Given the description of an element on the screen output the (x, y) to click on. 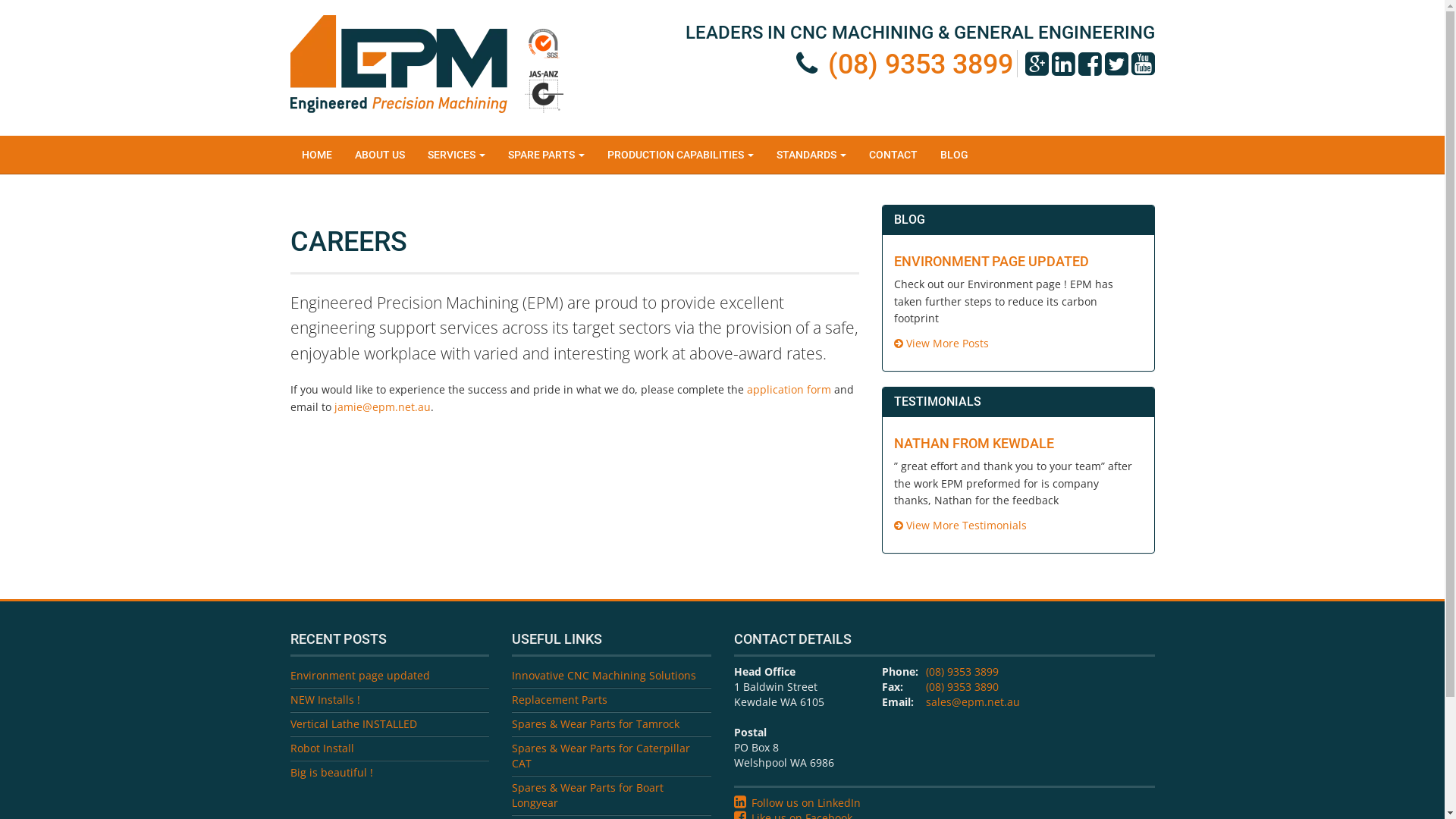
Spares & Wear Parts for Tamrock Element type: text (595, 723)
Spares & Wear Parts for Boart Longyear Element type: text (587, 794)
Big is beautiful ! Element type: text (330, 772)
(08) 9353 3899 Element type: text (920, 64)
application form Element type: text (788, 389)
Follow us on LinkedIn Element type: text (804, 802)
jamie@epm.net.au Element type: text (381, 406)
Environment page updated Element type: text (359, 675)
Replacement Parts Element type: text (559, 699)
Engineered Precision Machining Logo Element type: hover (425, 63)
NEW Installs ! Element type: text (324, 699)
Innovative CNC Machining Solutions Element type: text (603, 675)
STANDARDS Element type: text (810, 154)
sales@epm.net.au Element type: text (972, 701)
(08) 9353 3899 Element type: text (961, 671)
ABOUT US Element type: text (378, 154)
SPARE PARTS Element type: text (545, 154)
View More Testimonials Element type: text (959, 524)
HOME Element type: text (315, 154)
Robot Install Element type: text (321, 747)
CONTACT Element type: text (892, 154)
View More Posts Element type: text (940, 342)
(08) 9353 3890 Element type: text (961, 686)
PRODUCTION CAPABILITIES Element type: text (680, 154)
BLOG Element type: text (953, 154)
NATHAN FROM KEWDALE Element type: text (973, 443)
ENVIRONMENT PAGE UPDATED Element type: text (990, 261)
Spares & Wear Parts for Caterpillar CAT Element type: text (600, 755)
Vertical Lathe INSTALLED Element type: text (352, 723)
SERVICES Element type: text (455, 154)
